Given the description of an element on the screen output the (x, y) to click on. 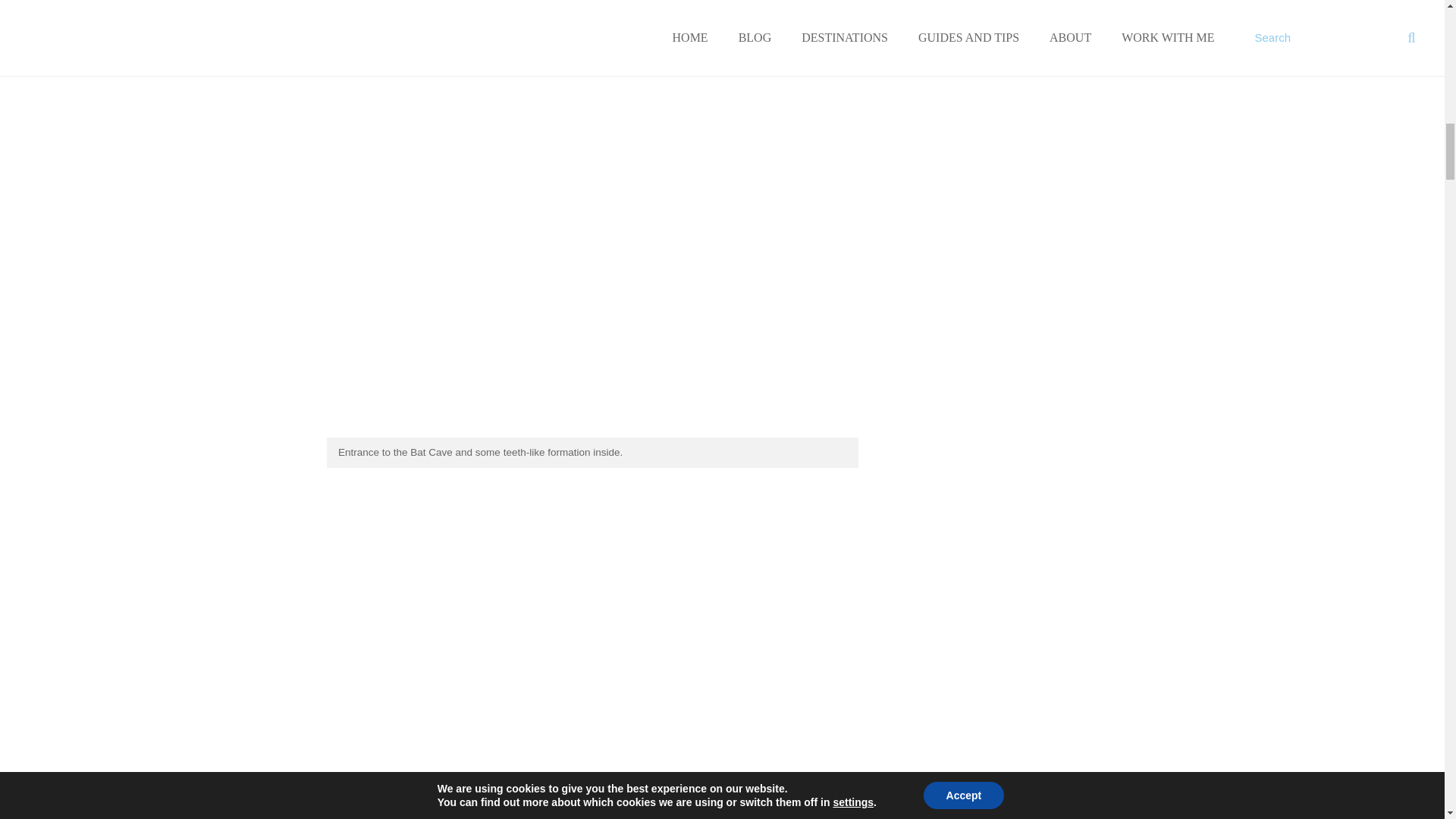
bat-cave-horz by Aleah Phils, on Flickr (588, 432)
